Given the description of an element on the screen output the (x, y) to click on. 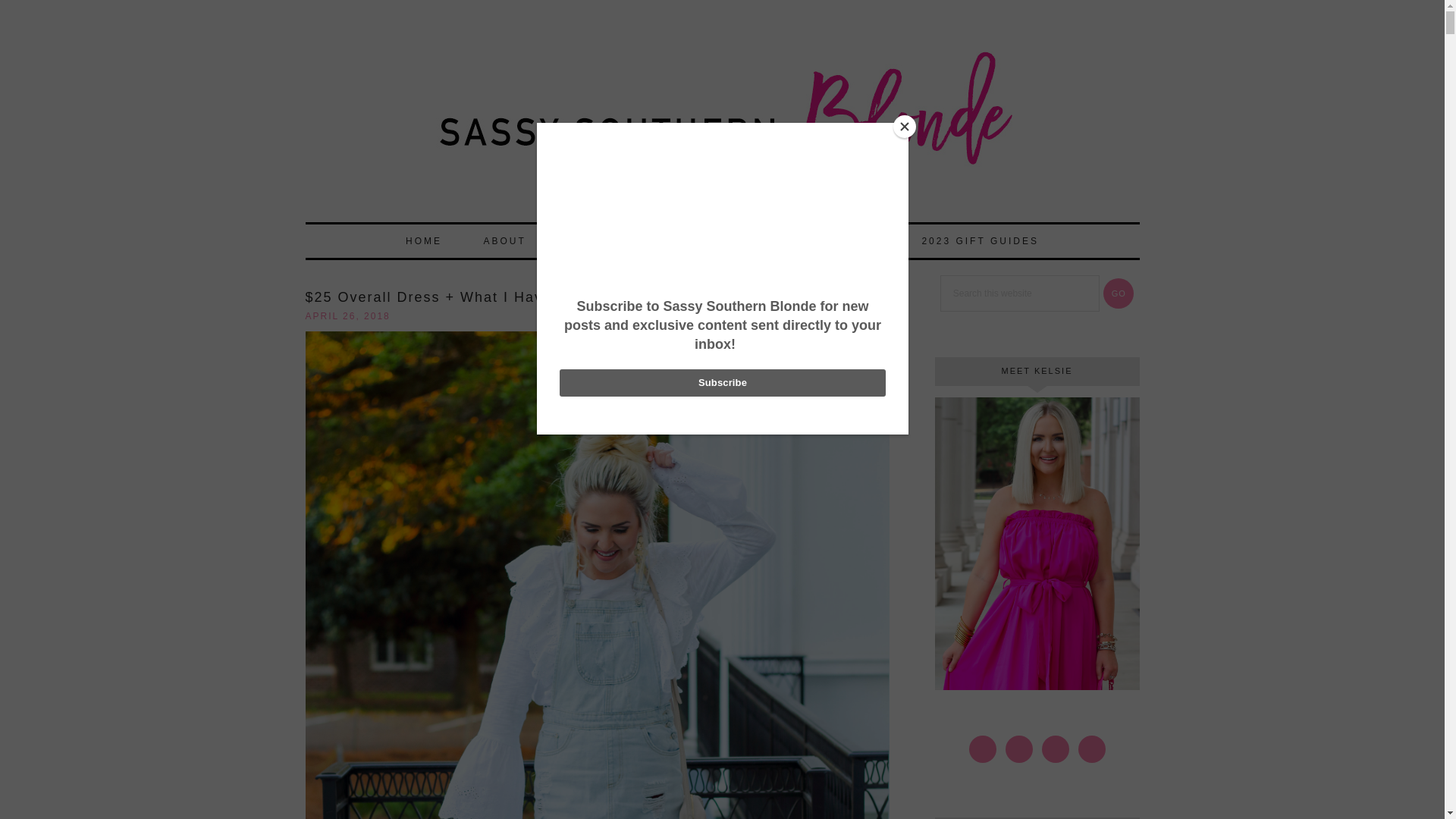
CATEGORIES (683, 240)
GO (1118, 293)
ABOUT (503, 240)
SHOP (584, 240)
DISCOUNT CODES (823, 240)
Sassy Southern Blonde (721, 128)
2023 GIFT GUIDES (978, 240)
HOME (423, 240)
GO (1118, 293)
